Given the description of an element on the screen output the (x, y) to click on. 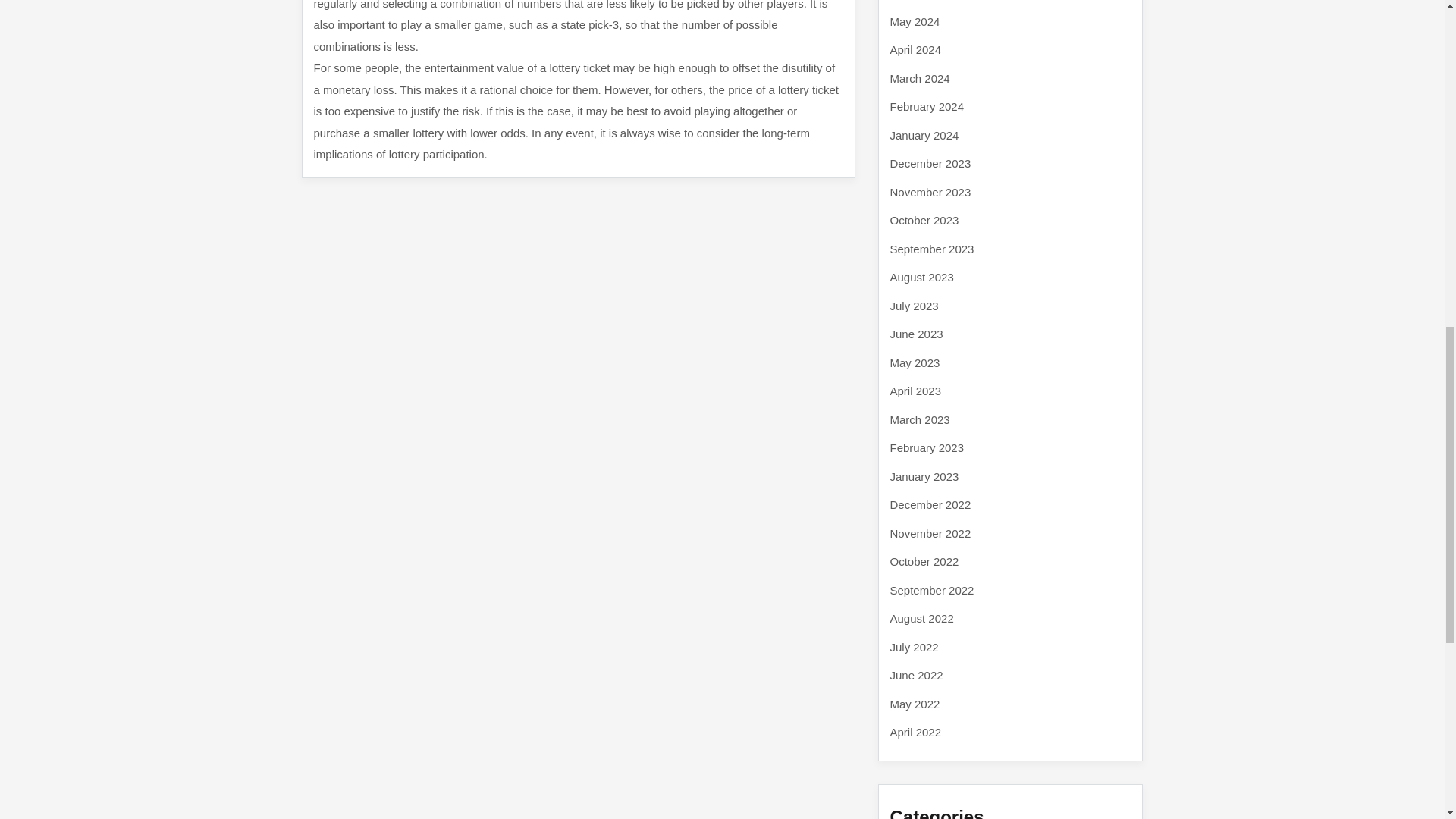
December 2023 (930, 163)
April 2022 (915, 731)
November 2023 (930, 191)
July 2022 (914, 645)
December 2022 (930, 504)
June 2022 (916, 675)
September 2023 (931, 248)
March 2023 (919, 418)
February 2024 (926, 106)
May 2022 (914, 703)
January 2024 (924, 134)
May 2023 (914, 362)
April 2023 (915, 390)
January 2023 (924, 476)
March 2024 (919, 77)
